Given the description of an element on the screen output the (x, y) to click on. 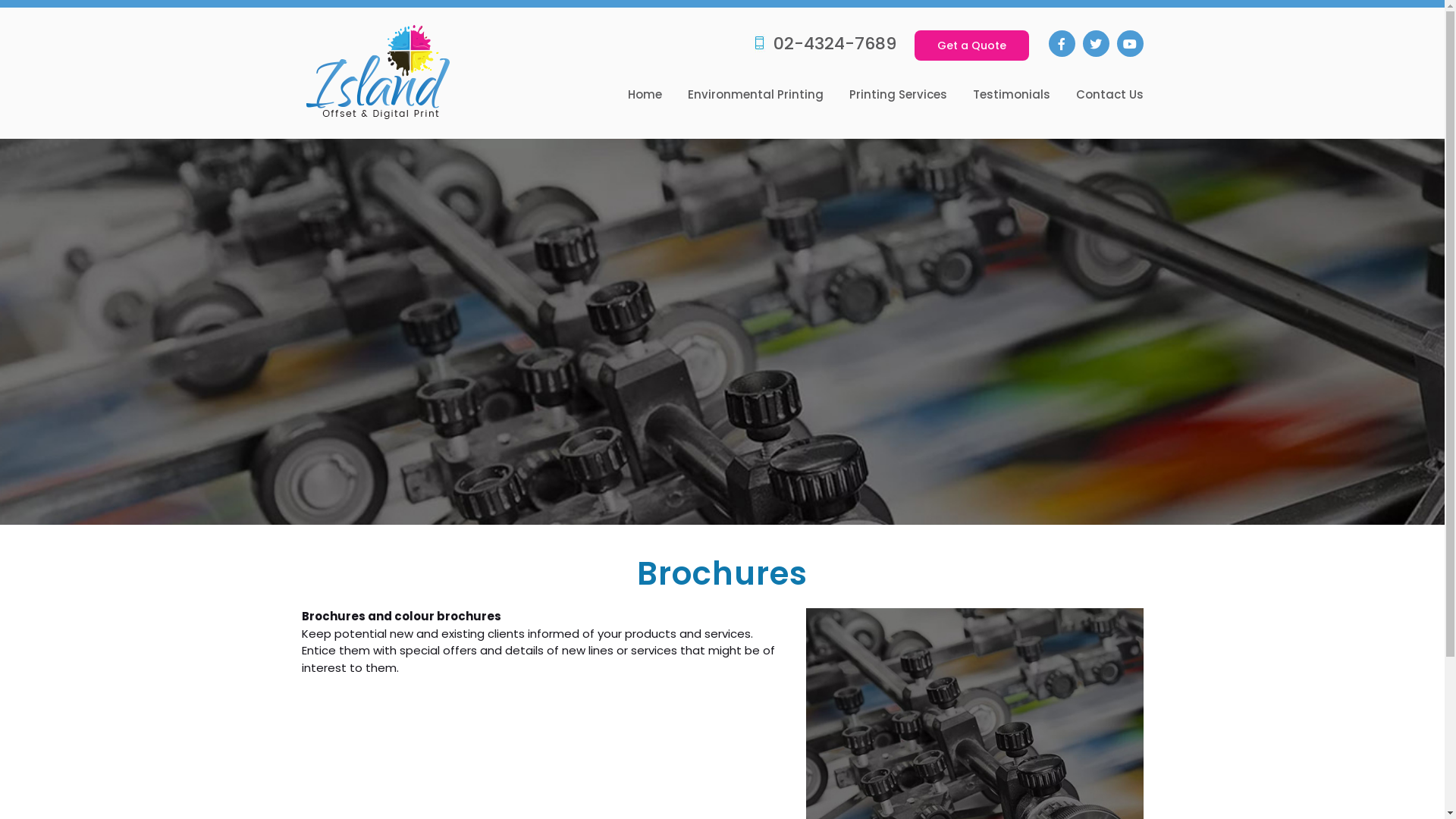
Printing Services Element type: text (898, 95)
Contact Us Element type: text (1108, 95)
Get a Quote Element type: text (971, 45)
Home Element type: text (644, 95)
02-4324-7689 Element type: text (824, 43)
Environmental Printing Element type: text (754, 95)
Testimonials Element type: text (1010, 95)
